Given the description of an element on the screen output the (x, y) to click on. 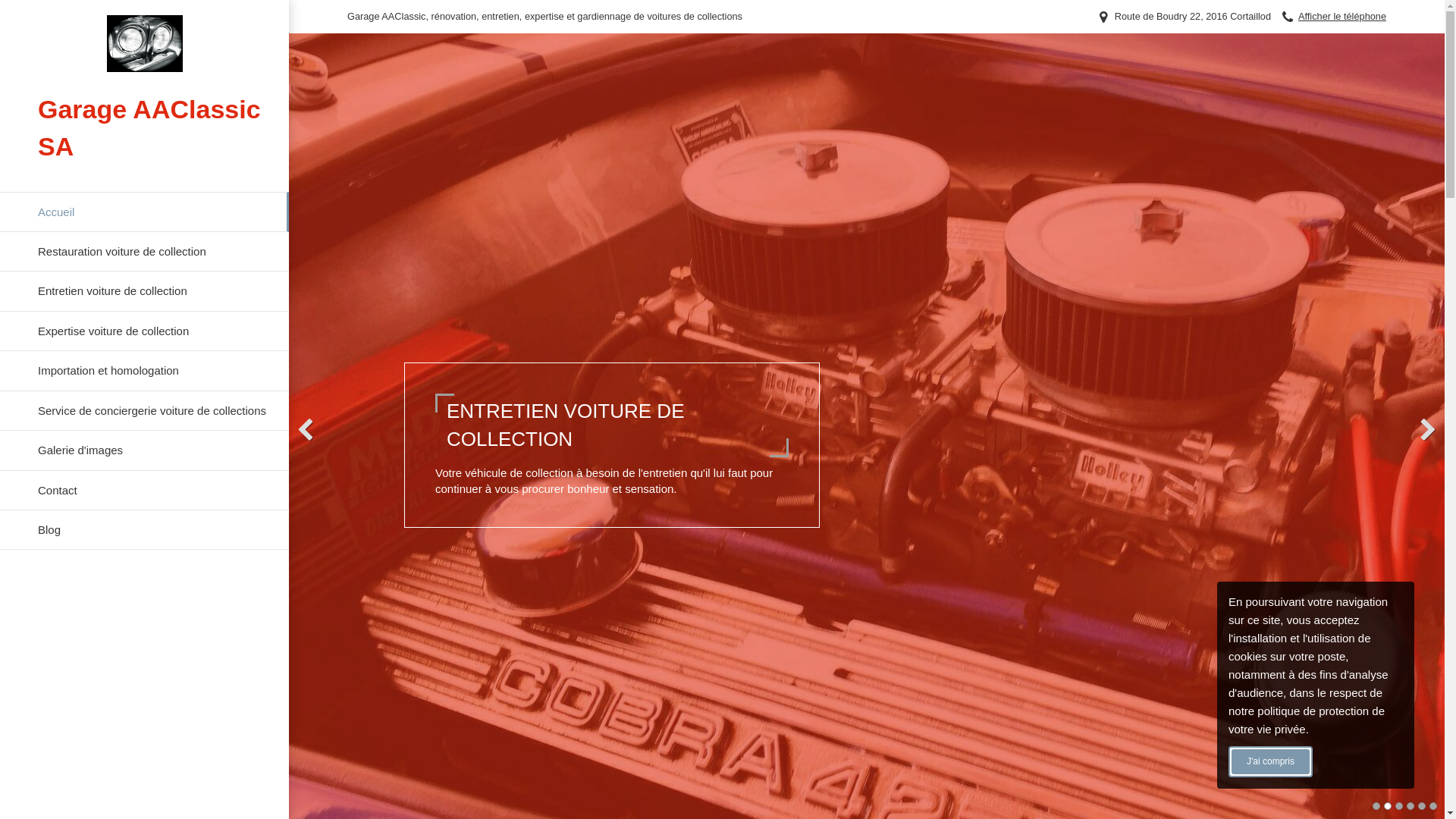
Service de conciergerie voiture de collections Element type: text (144, 410)
Accueil Element type: text (144, 211)
Garage AAClassic SA Element type: hover (144, 43)
Restauration voiture de collection Element type: text (144, 251)
3 Element type: text (1398, 805)
1 Element type: text (1376, 805)
6 Element type: text (1433, 805)
Importation et homologation Element type: text (144, 370)
Expertise voiture de collection Element type: text (144, 331)
5 Element type: text (1421, 805)
J'ai compris Element type: text (1270, 761)
Garage AAClassic SA Element type: hover (144, 67)
Galerie d'images Element type: text (144, 450)
Entretien voiture de collection Element type: text (144, 290)
2 Element type: text (1387, 805)
Contact Element type: text (144, 489)
Blog Element type: text (144, 529)
4 Element type: text (1410, 805)
